Given the description of an element on the screen output the (x, y) to click on. 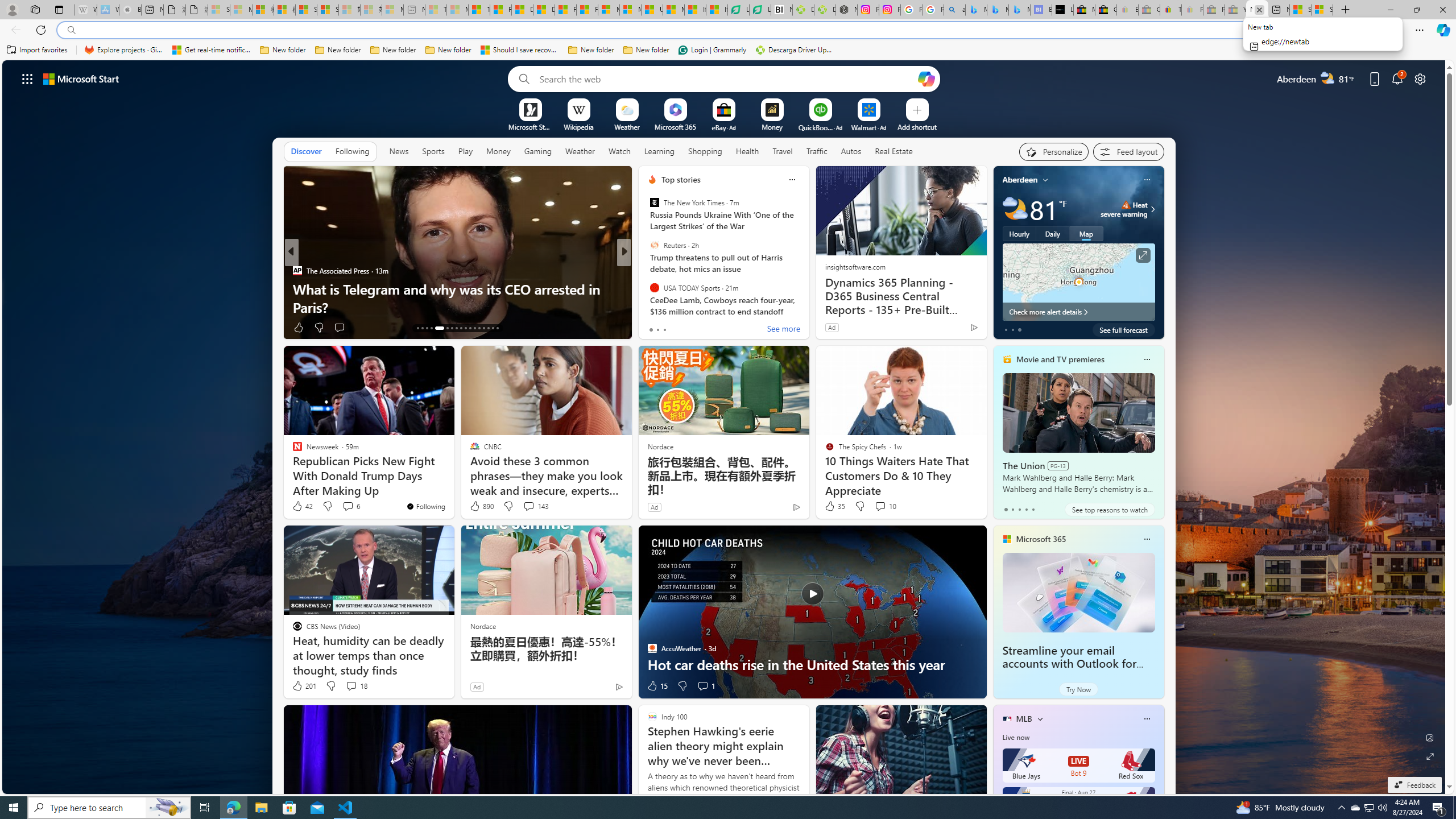
Gaming (537, 151)
Nordace (483, 625)
Foo BAR | Trusted Community Engagement and Contributions (587, 9)
AutomationID: tab-23 (470, 328)
View comments 8 Comment (702, 327)
Learning (658, 151)
View comments 1 Comment (703, 685)
Personalize your feed" (1054, 151)
View comments 7 Comment (698, 327)
Yard, Garden & Outdoor Living - Sleeping (1235, 9)
Watch (619, 151)
View comments 460 Comment (703, 327)
